Given the description of an element on the screen output the (x, y) to click on. 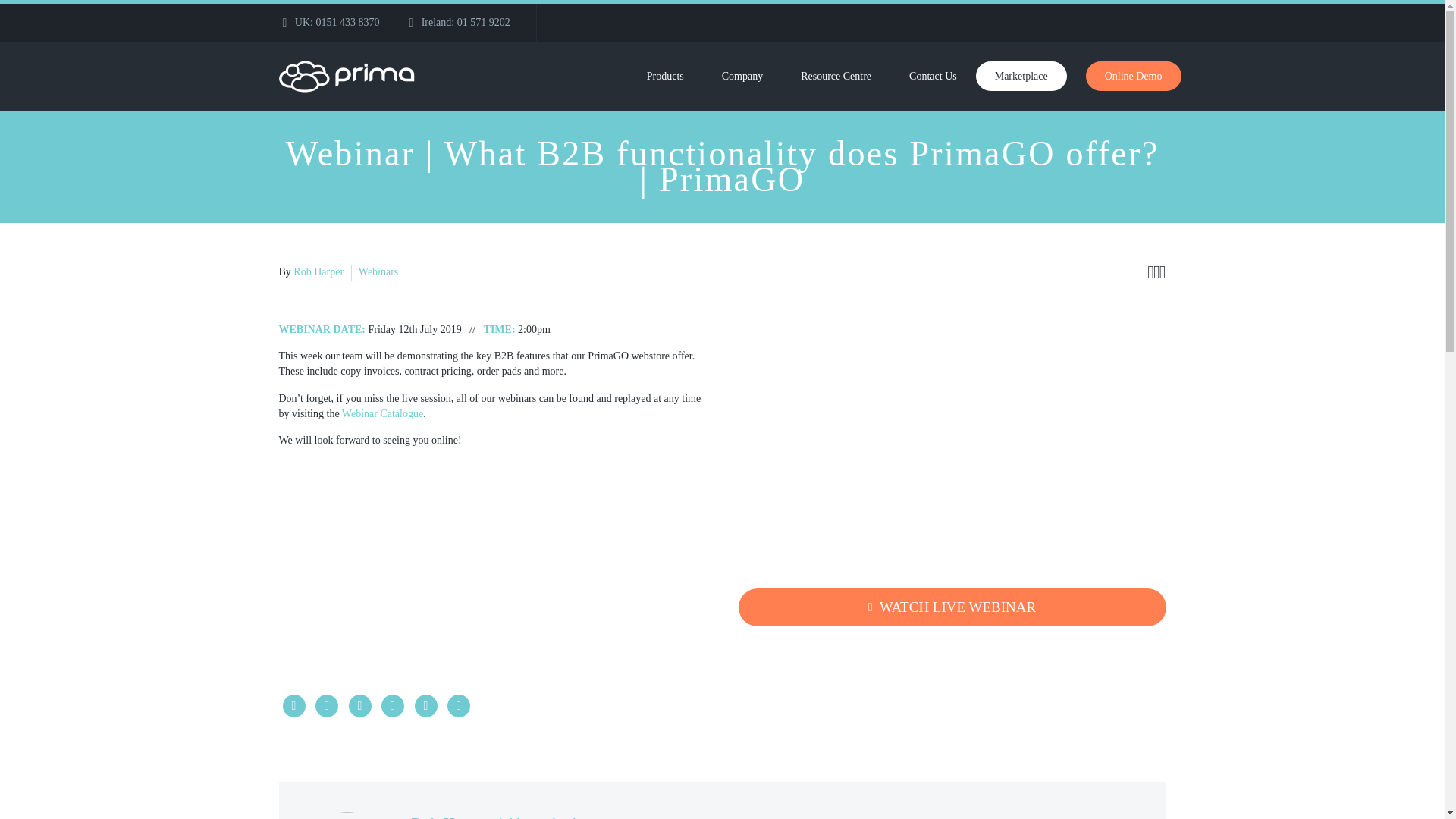
UK: 0151 433 8370 (337, 21)
View all posts in Webinars (378, 271)
Reddit (458, 705)
Company (741, 75)
Tumblr (392, 705)
Twitter (326, 705)
LinkedIn (424, 705)
Pinterest (360, 705)
Facebook (293, 705)
Resource Centre (836, 75)
Products (665, 75)
